Given the description of an element on the screen output the (x, y) to click on. 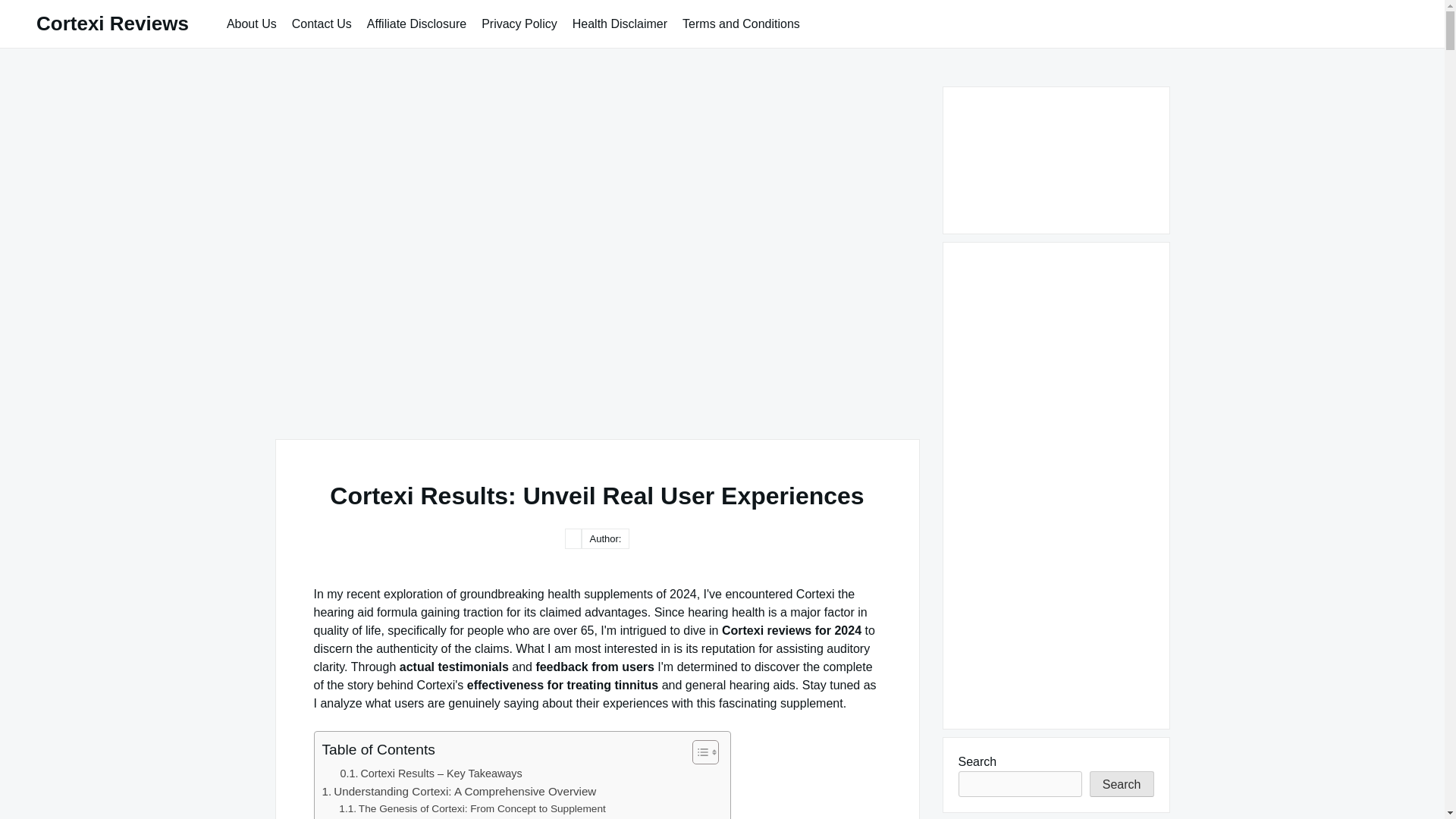
About Us (251, 23)
Affiliate Disclosure (416, 23)
The Genesis of Cortexi: From Concept to Supplement (472, 808)
Understanding Cortexi: A Comprehensive Overview (458, 791)
The Genesis of Cortexi: From Concept to Supplement (472, 808)
Health Disclaimer (619, 23)
Cortexi Reviews (112, 23)
Contact Us (321, 23)
Privacy Policy (519, 23)
Understanding Cortexi: A Comprehensive Overview (458, 791)
Terms and Conditions (741, 23)
